Given the description of an element on the screen output the (x, y) to click on. 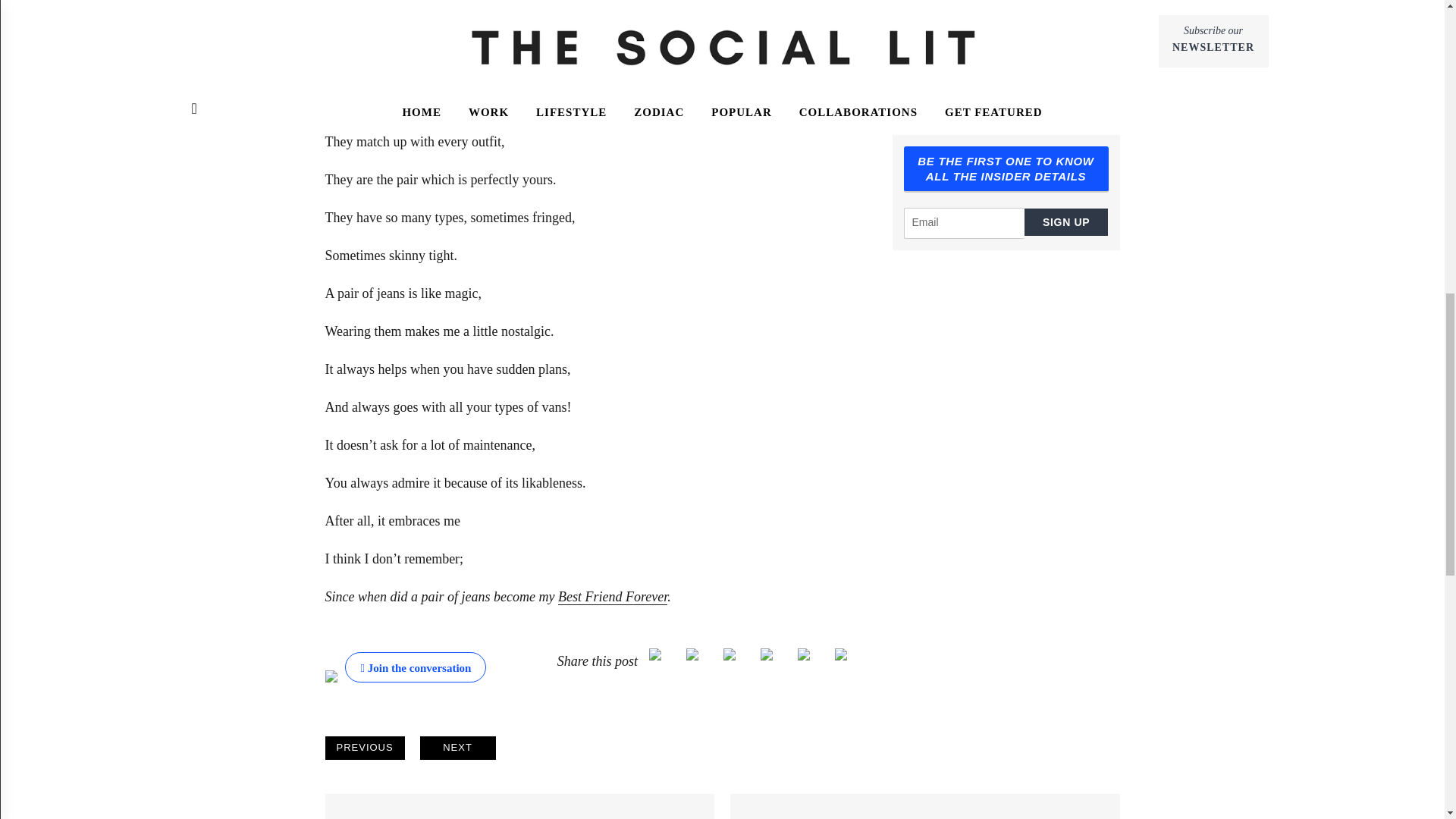
Sign UP (1066, 221)
